Given the description of an element on the screen output the (x, y) to click on. 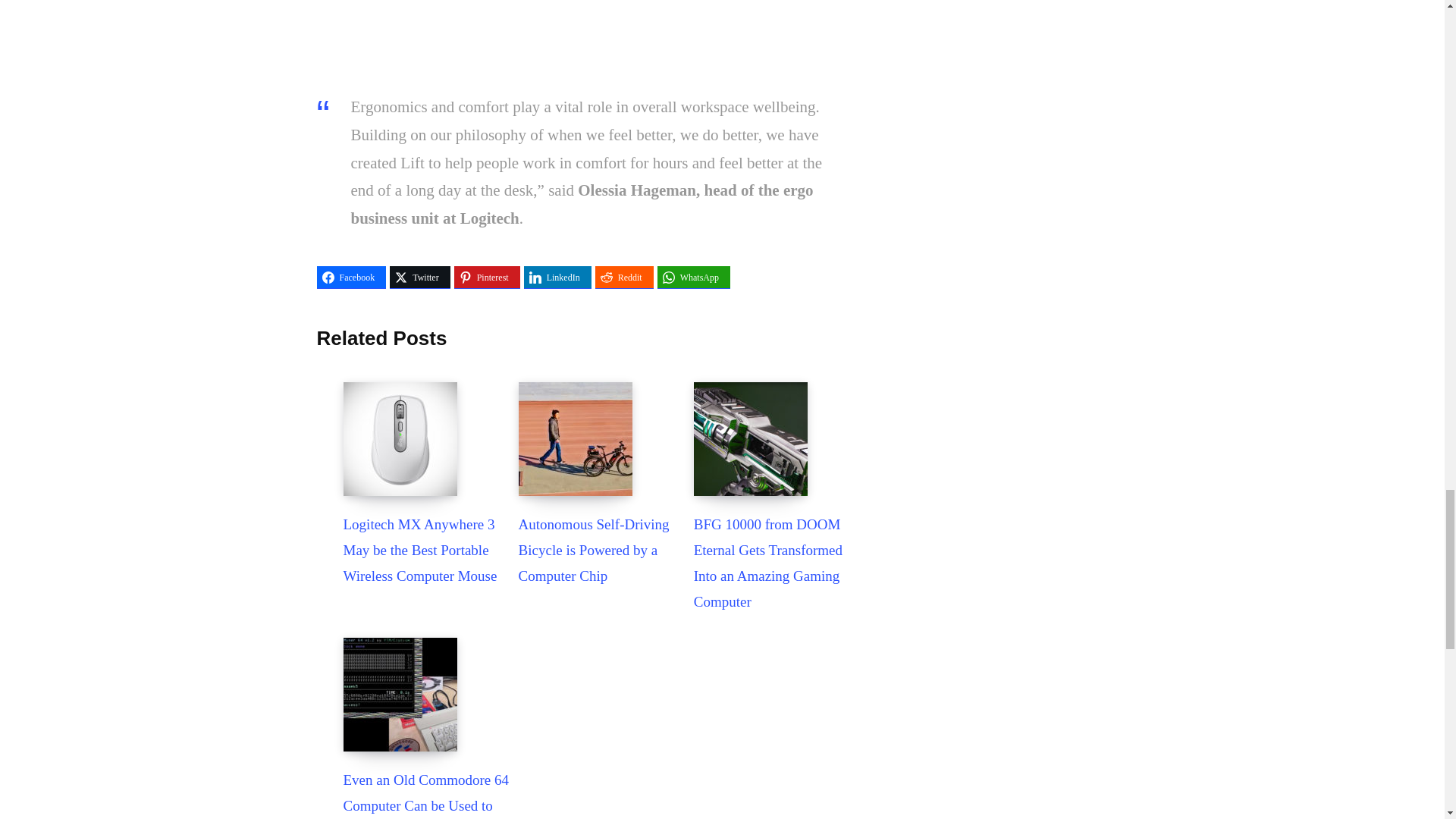
WhatsApp (694, 277)
LinkedIn (557, 277)
Facebook (352, 277)
Reddit (624, 277)
Twitter (419, 277)
Pinterest (486, 277)
